Given the description of an element on the screen output the (x, y) to click on. 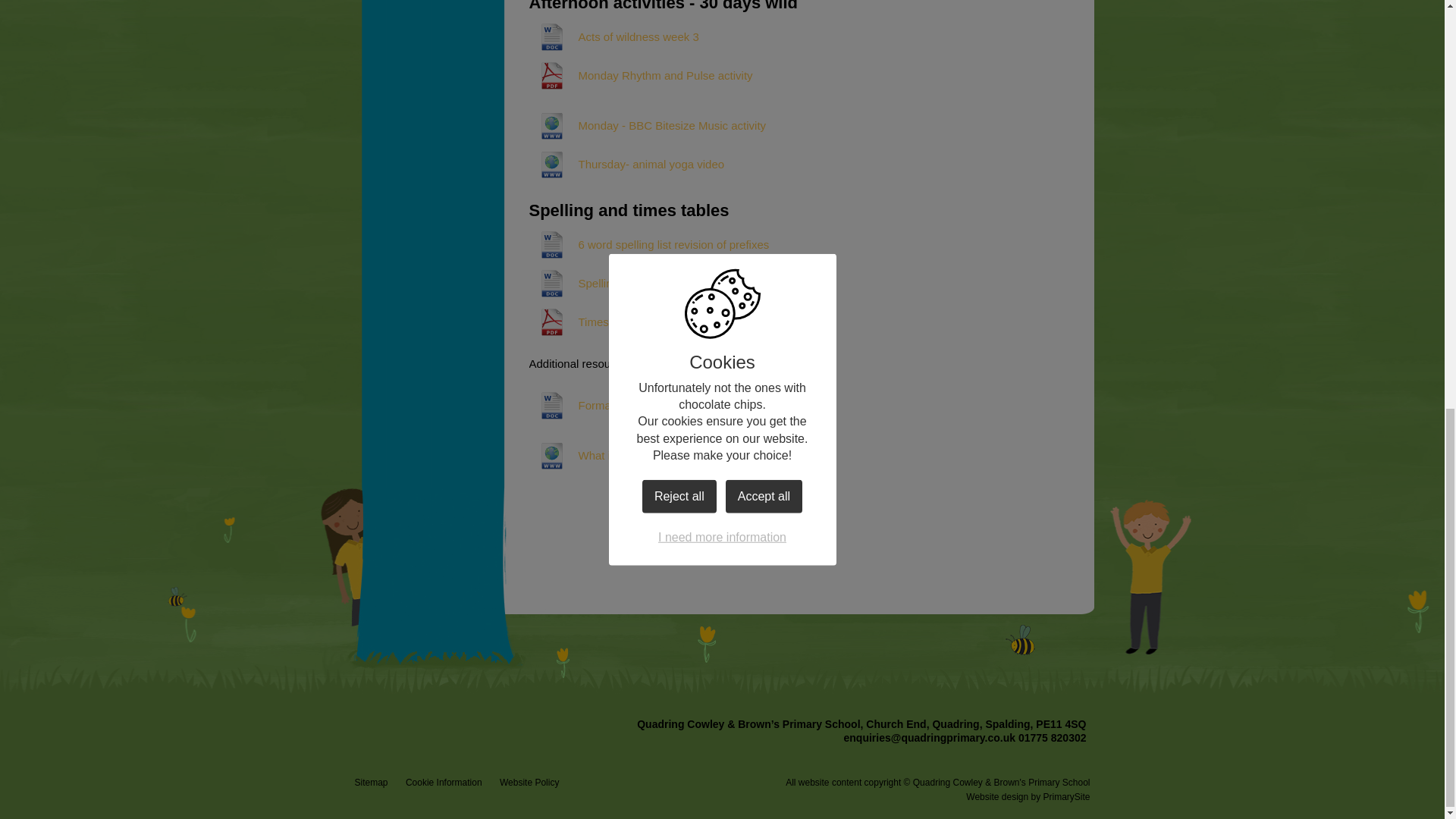
Times table practice (604, 321)
Monday Rhythm and Pulse activity (640, 75)
Monday - BBC Bitesize Music activity (648, 125)
What is a balanced argument (627, 455)
Acts of wildness week 3 (613, 36)
Formal letter planning sheet (624, 405)
Spelling practise revision of prefixes (644, 283)
Thursday- animal yoga video (627, 164)
6 word spelling list revision of prefixes (649, 244)
